Given the description of an element on the screen output the (x, y) to click on. 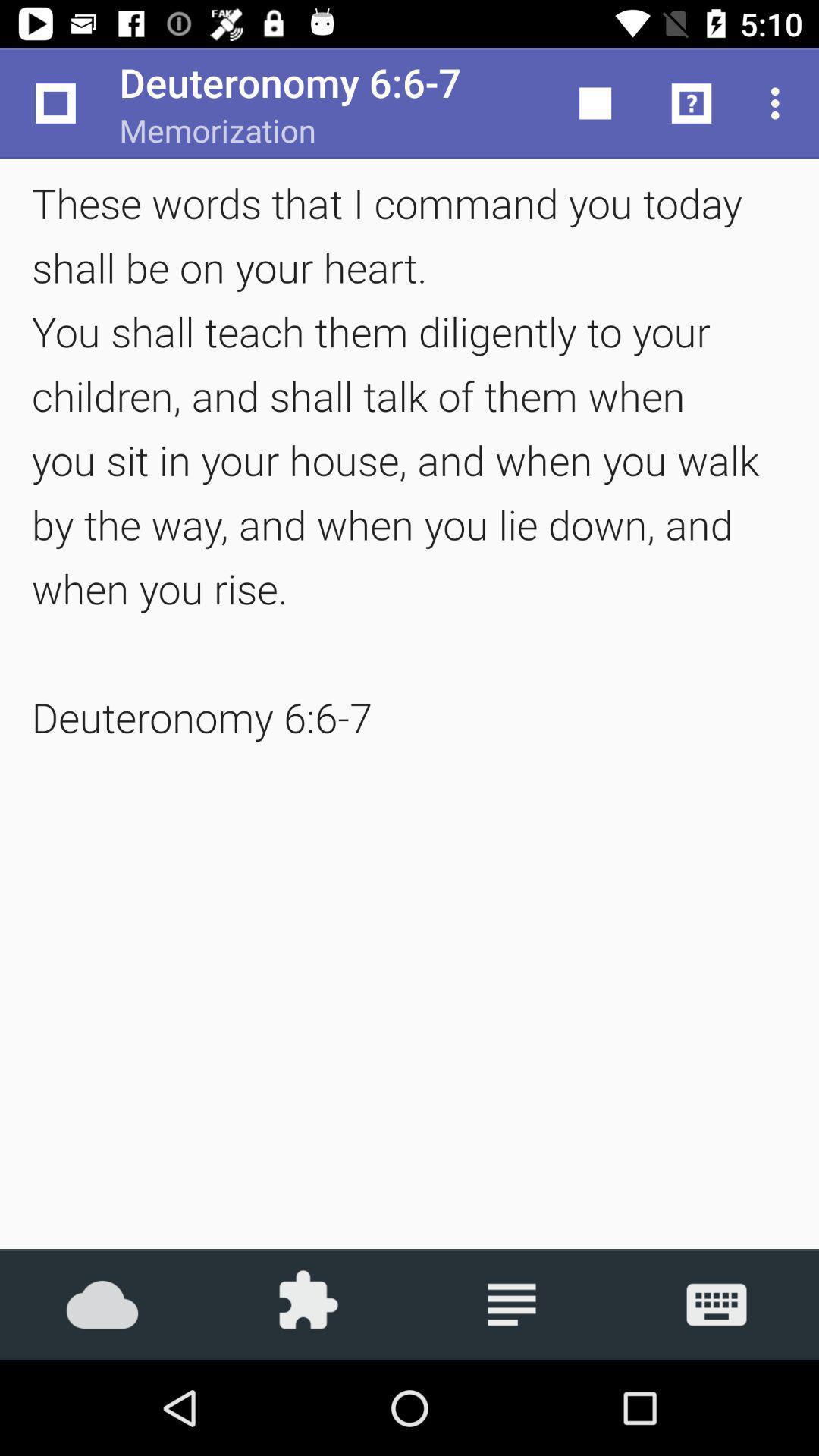
scroll until the these words that icon (409, 459)
